Given the description of an element on the screen output the (x, y) to click on. 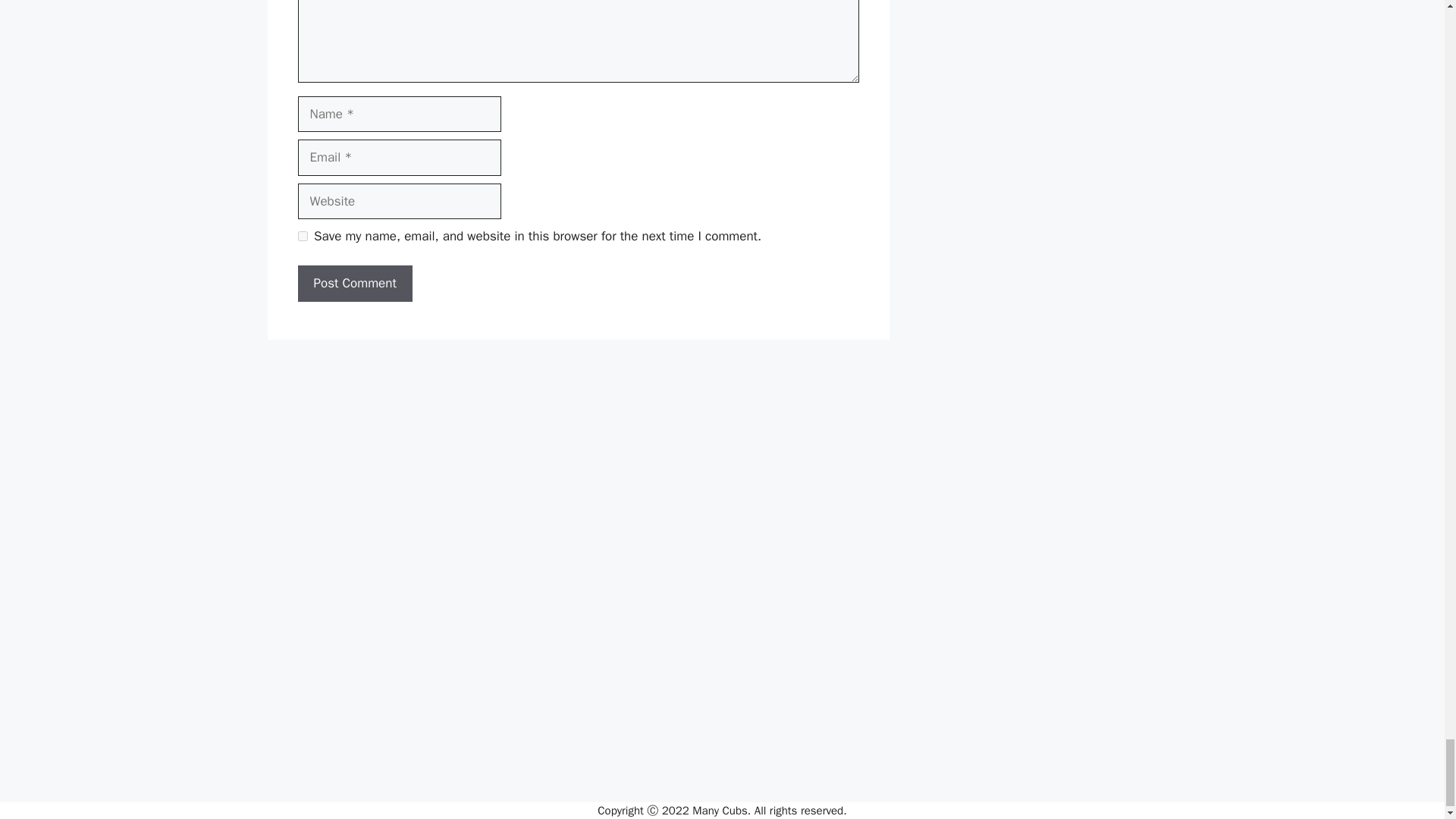
yes (302, 235)
Post Comment (354, 283)
